Given the description of an element on the screen output the (x, y) to click on. 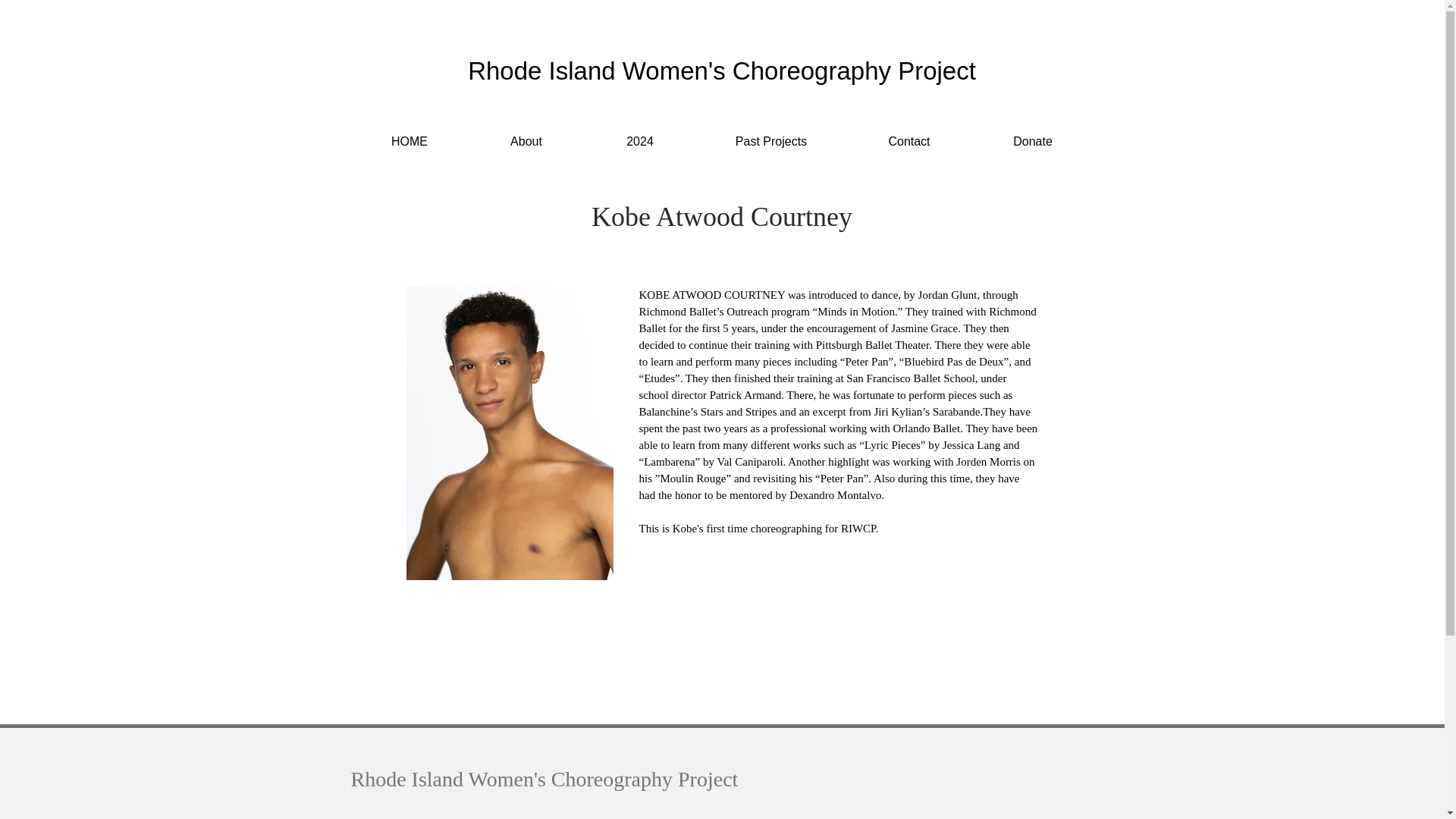
Donate (1033, 141)
HOME (408, 141)
Contact (908, 141)
